Given the description of an element on the screen output the (x, y) to click on. 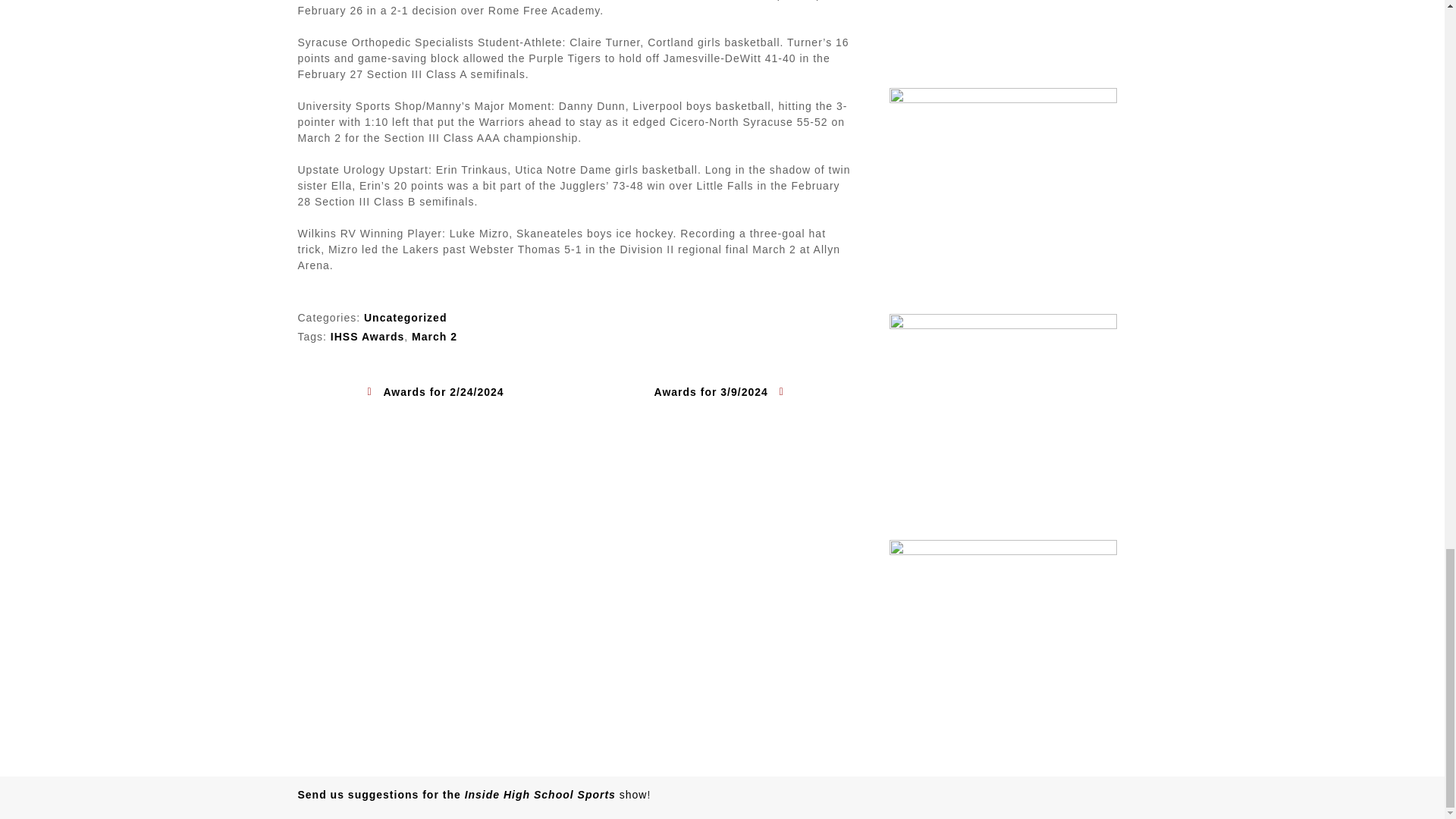
Uncategorized (405, 317)
Send us suggestions for the Inside High School Sports show (471, 794)
IHSS Awards (367, 336)
March 2 (434, 336)
